Given the description of an element on the screen output the (x, y) to click on. 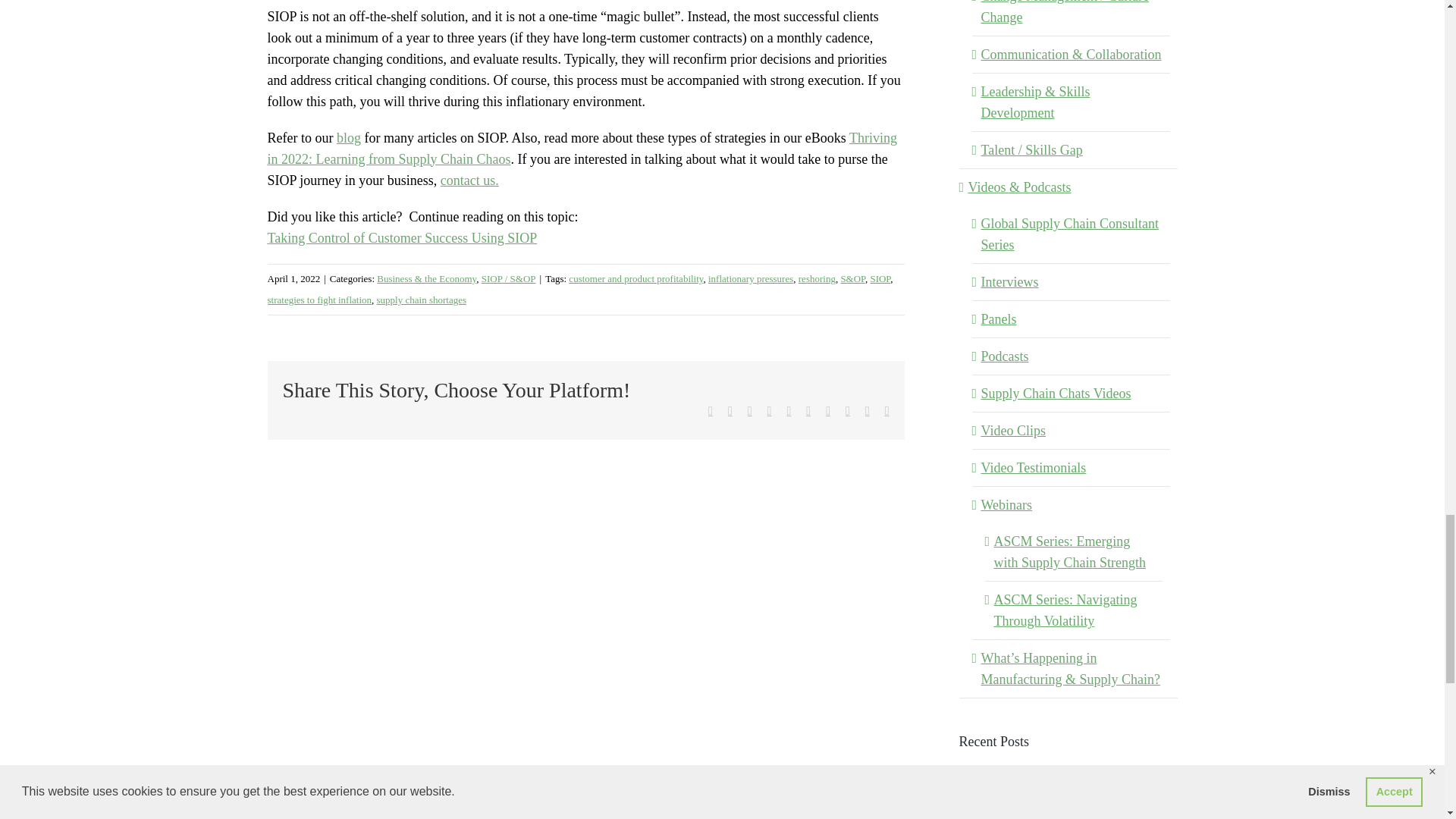
blog (348, 137)
